Given the description of an element on the screen output the (x, y) to click on. 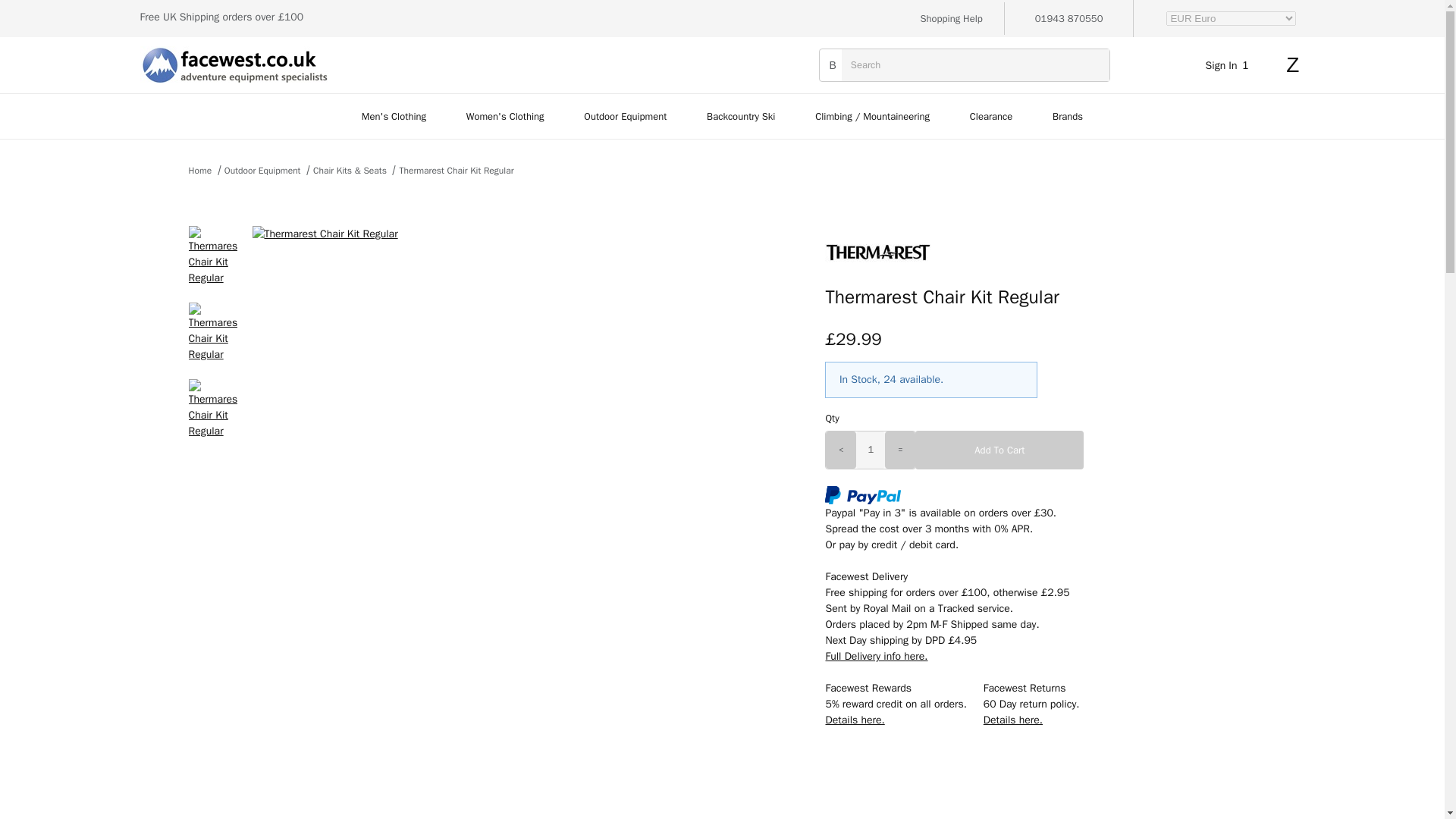
Men's Clothing (393, 116)
Facewest (234, 64)
Sign In (1218, 257)
Shopping Help (951, 18)
Add To Cart (999, 449)
Sign In (1229, 64)
More Thermarest products (1040, 252)
